Given the description of an element on the screen output the (x, y) to click on. 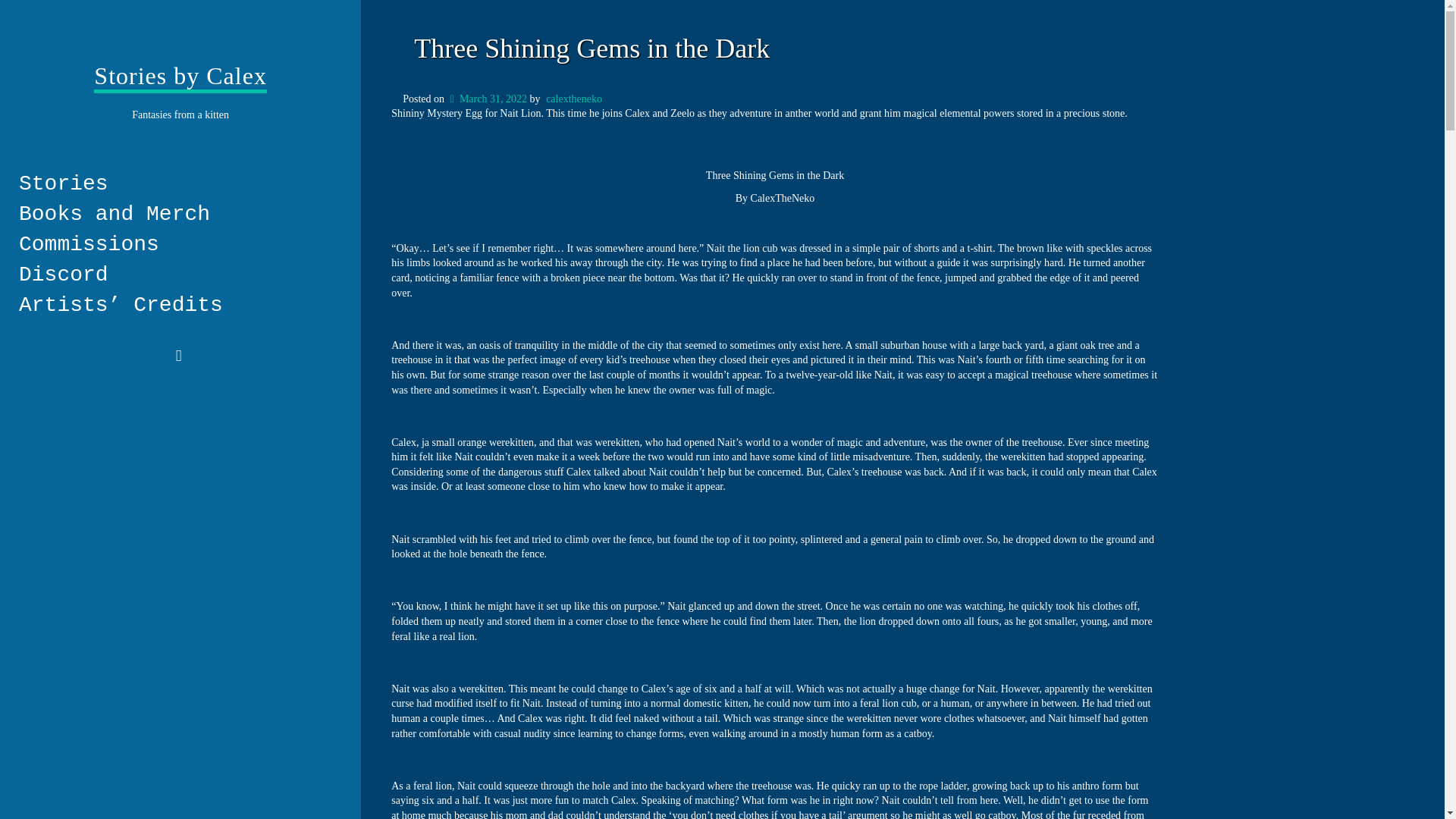
Stories by Calex (180, 77)
calextheneko (574, 98)
March 31, 2022 (486, 98)
Stories (174, 183)
Stories (174, 183)
Discord (174, 275)
Commissions (174, 245)
Commissions (174, 245)
Books and Merch (174, 214)
Discord (174, 275)
